Given the description of an element on the screen output the (x, y) to click on. 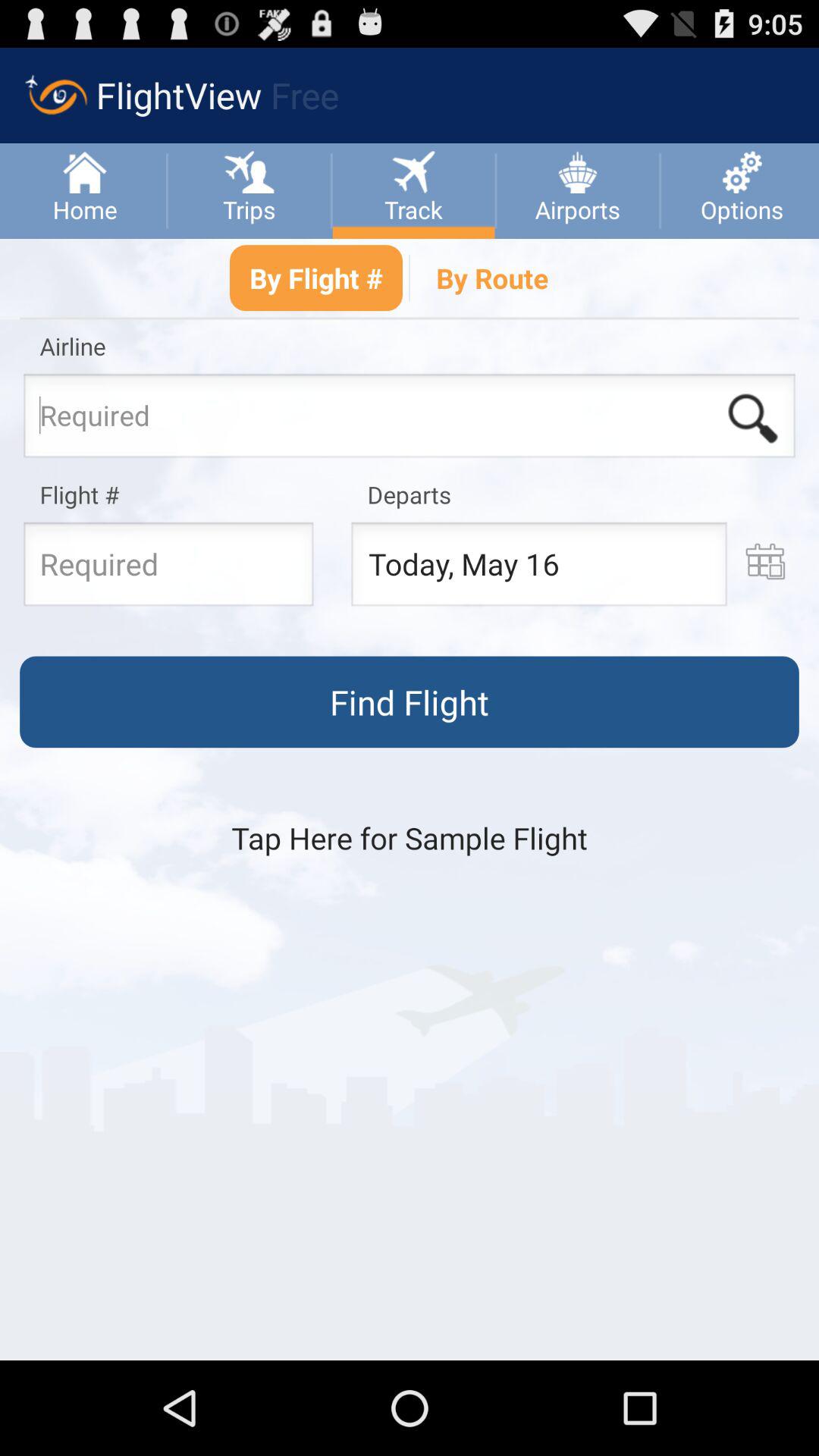
airline seach box (409, 420)
